Given the description of an element on the screen output the (x, y) to click on. 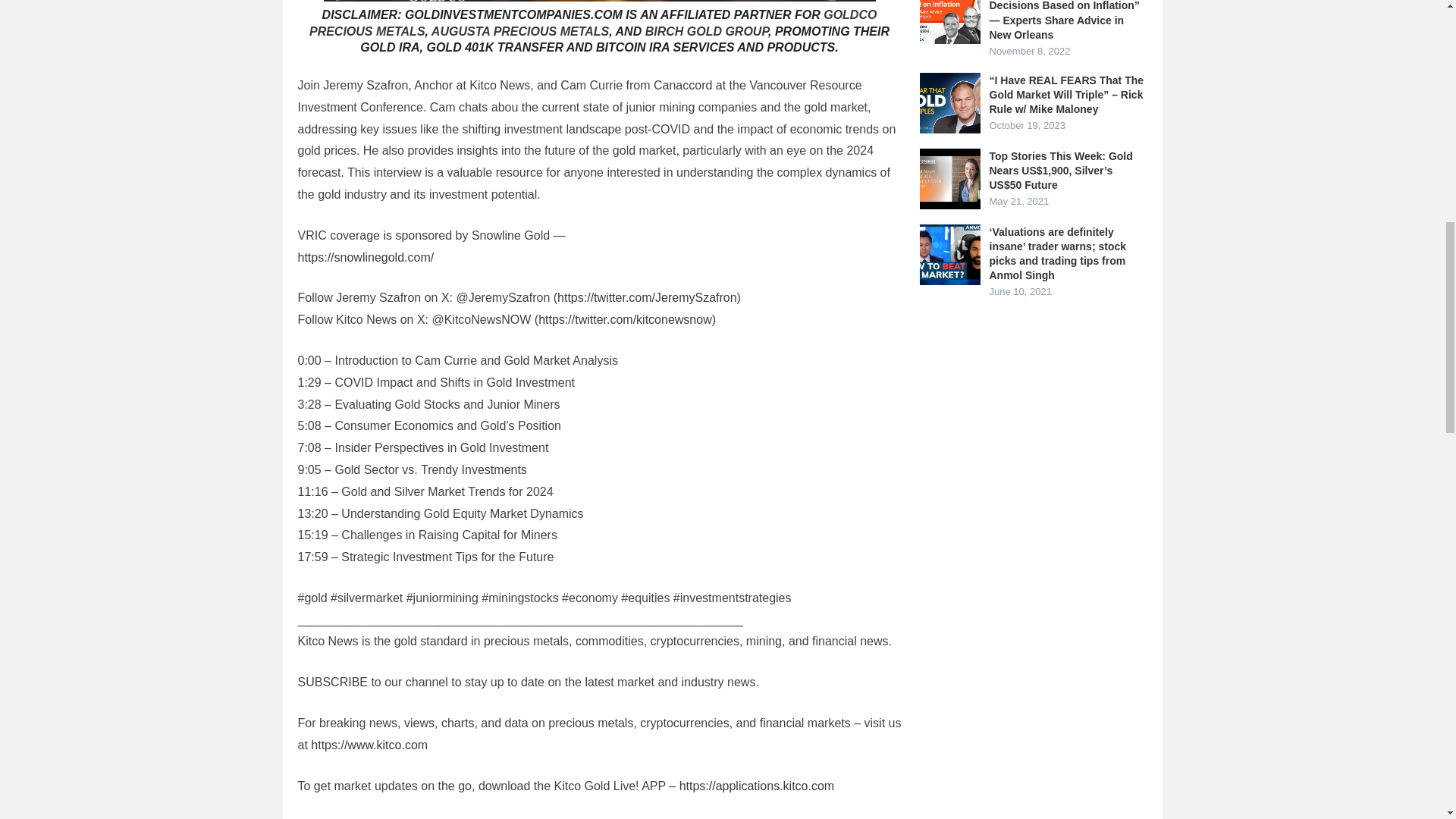
AUGUSTA PRECIOUS METALS (519, 31)
BIRCH GOLD GROUP (706, 31)
GOLDCO PRECIOUS METALS (592, 22)
